Given the description of an element on the screen output the (x, y) to click on. 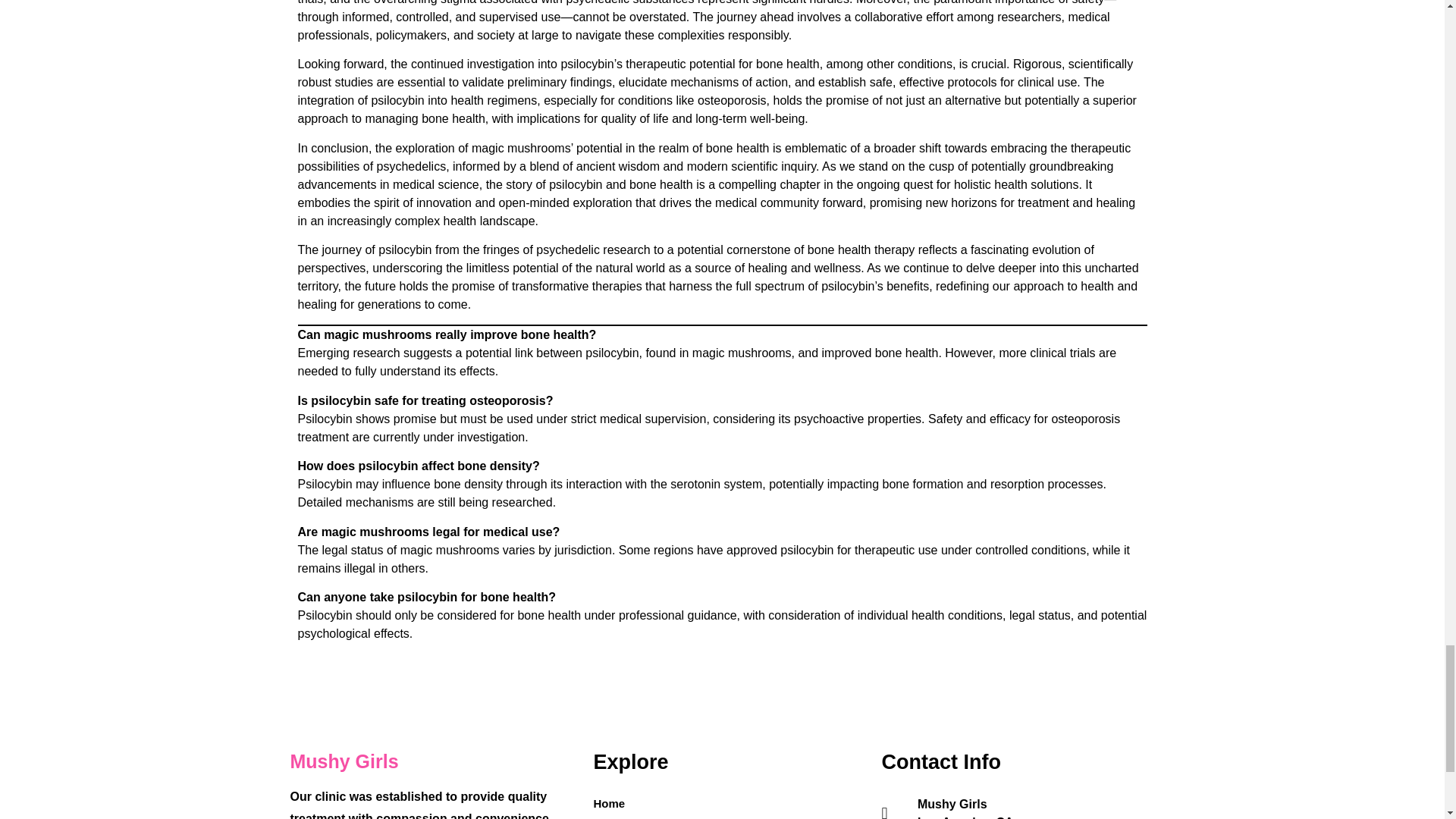
Home (609, 804)
